Given the description of an element on the screen output the (x, y) to click on. 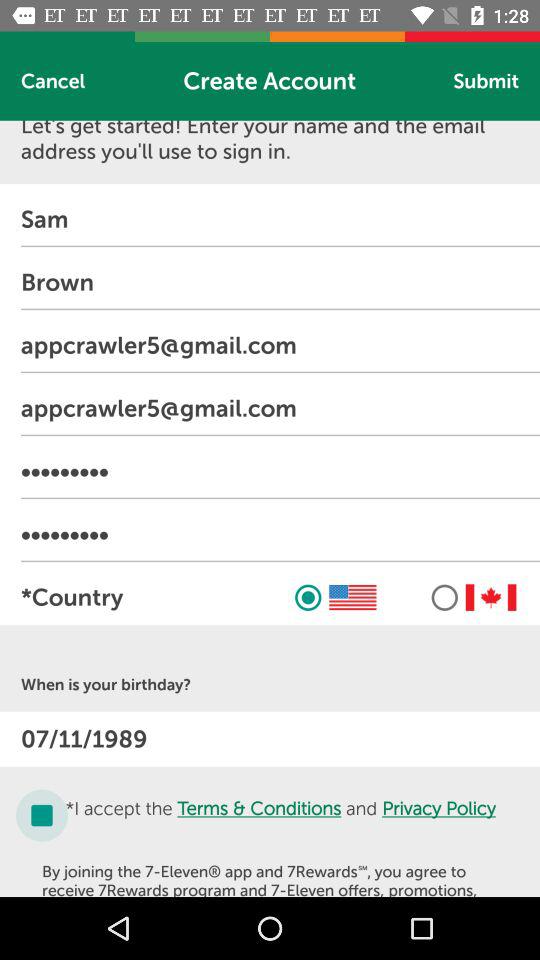
select the check box icon to accept terms and conditions (42, 815)
select the text brown (280, 282)
select the first password box (280, 471)
click on i accept the terms conditions and privacy policy text statement (280, 814)
click on the text field above the country (280, 533)
